Given the description of an element on the screen output the (x, y) to click on. 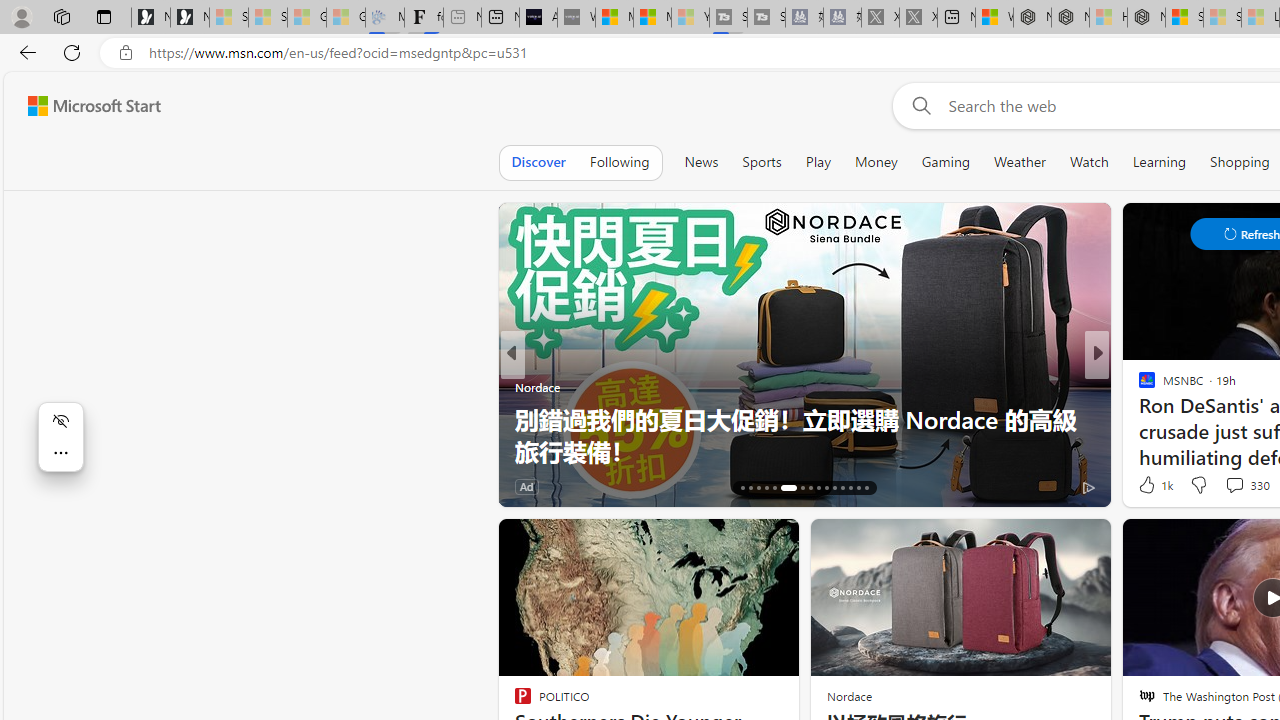
Nordace - Nordace Siena Is Not An Ordinary Backpack (1145, 17)
View comments 33 Comment (1237, 486)
AutomationID: tab-29 (857, 487)
8 Like (1145, 486)
View comments 96 Comment (1244, 486)
87 Like (1149, 486)
View comments 266 Comment (1234, 485)
View comments 1 Comment (1234, 486)
